Given the description of an element on the screen output the (x, y) to click on. 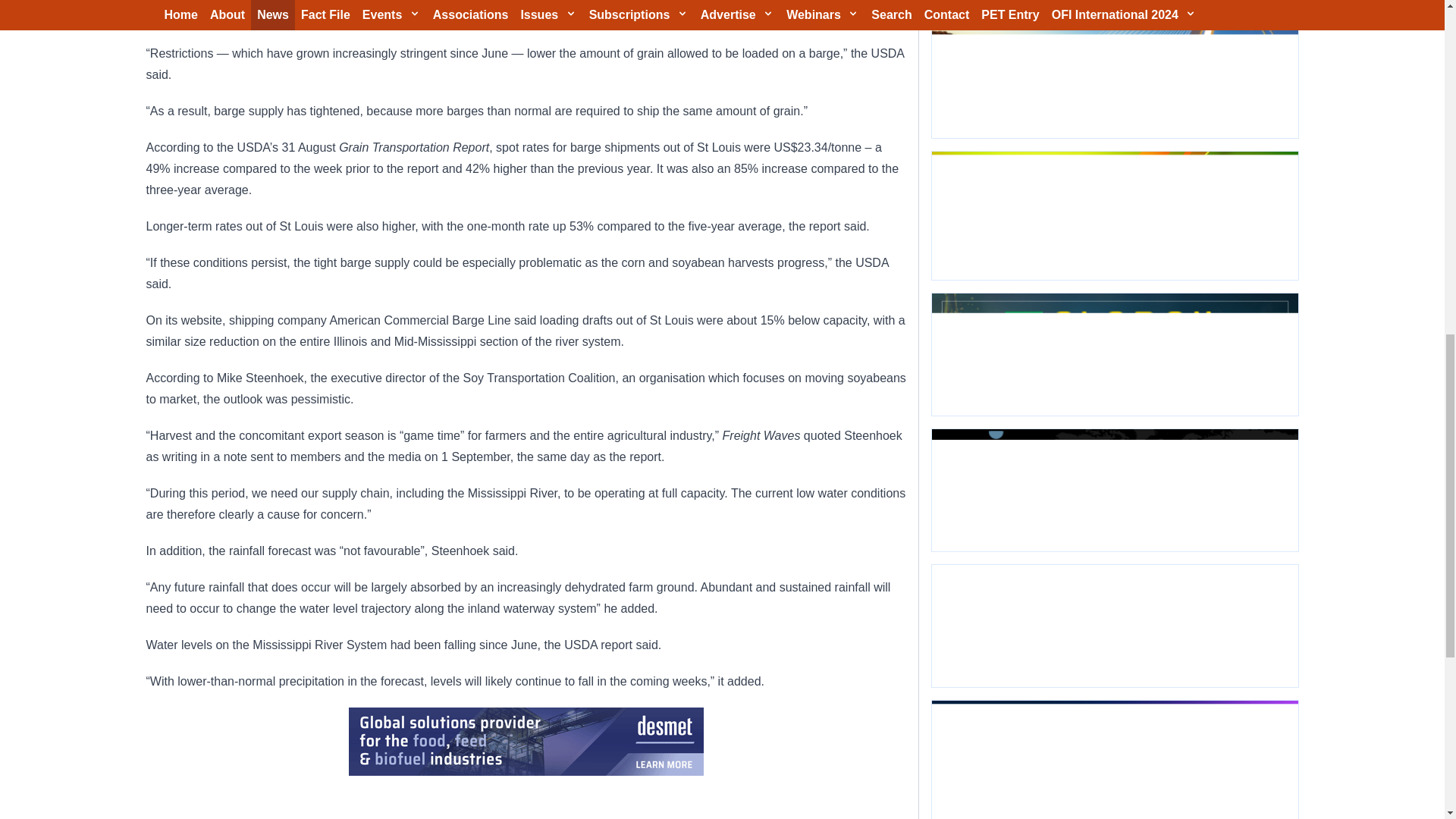
Desmet 2022-4 footer banner (525, 741)
ICIS Pan American Oleochemicals Conference (1114, 760)
2nd Berlin Symposium 2024 (1114, 626)
Globoil 2024 (1114, 354)
3rd Sustainable Vegetable Oil Conference (1114, 215)
Sustainable Aviation Futures North America Congress (1114, 490)
OFI International 2024 (1114, 69)
